Given the description of an element on the screen output the (x, y) to click on. 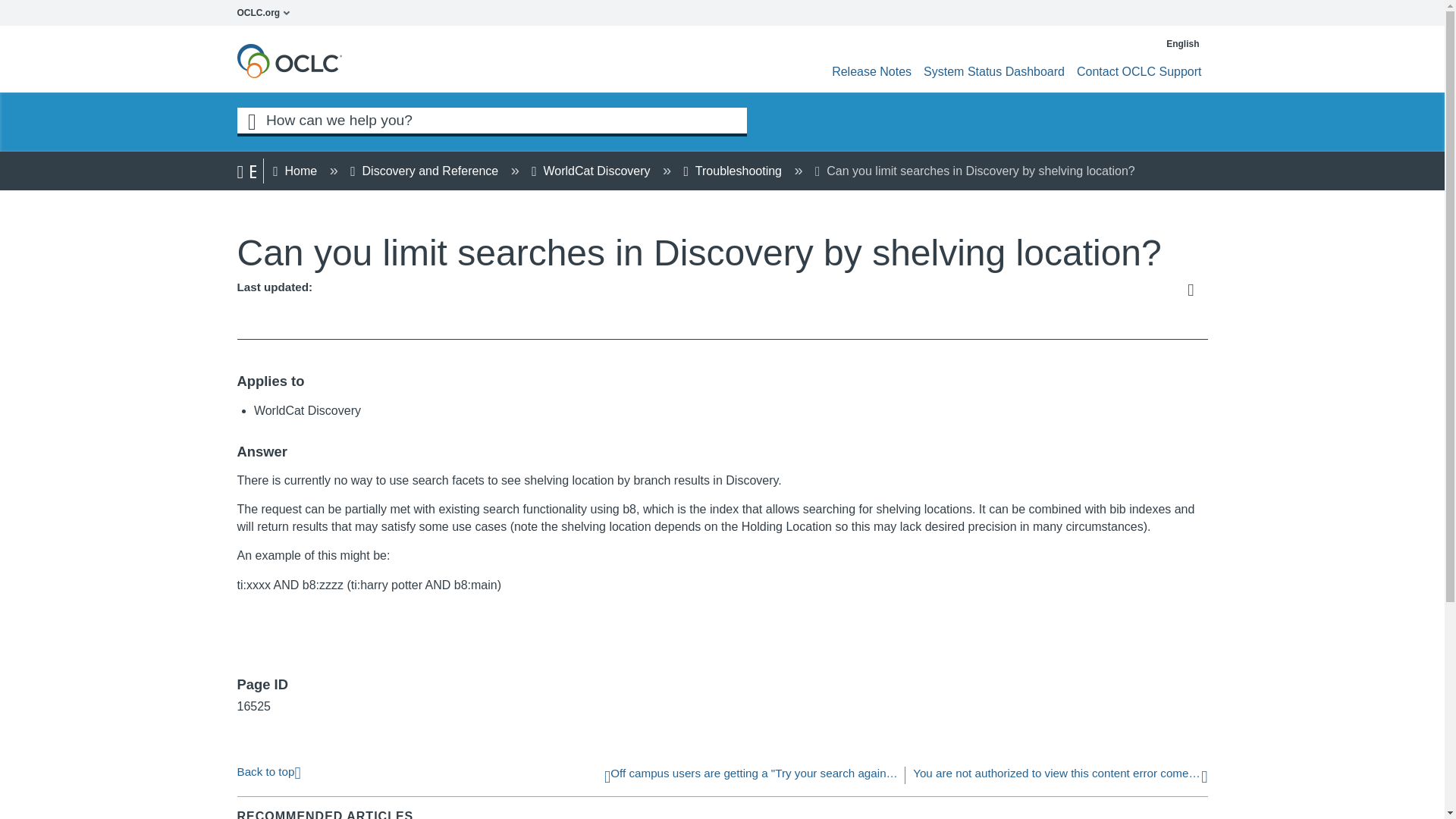
System Status Dashboard (993, 71)
Search (250, 120)
Contact OCLC Support (1139, 71)
OCLC.org Home (266, 12)
Home (296, 170)
Jump back to top of this article (267, 770)
WorldCat Discovery (592, 170)
